Given the description of an element on the screen output the (x, y) to click on. 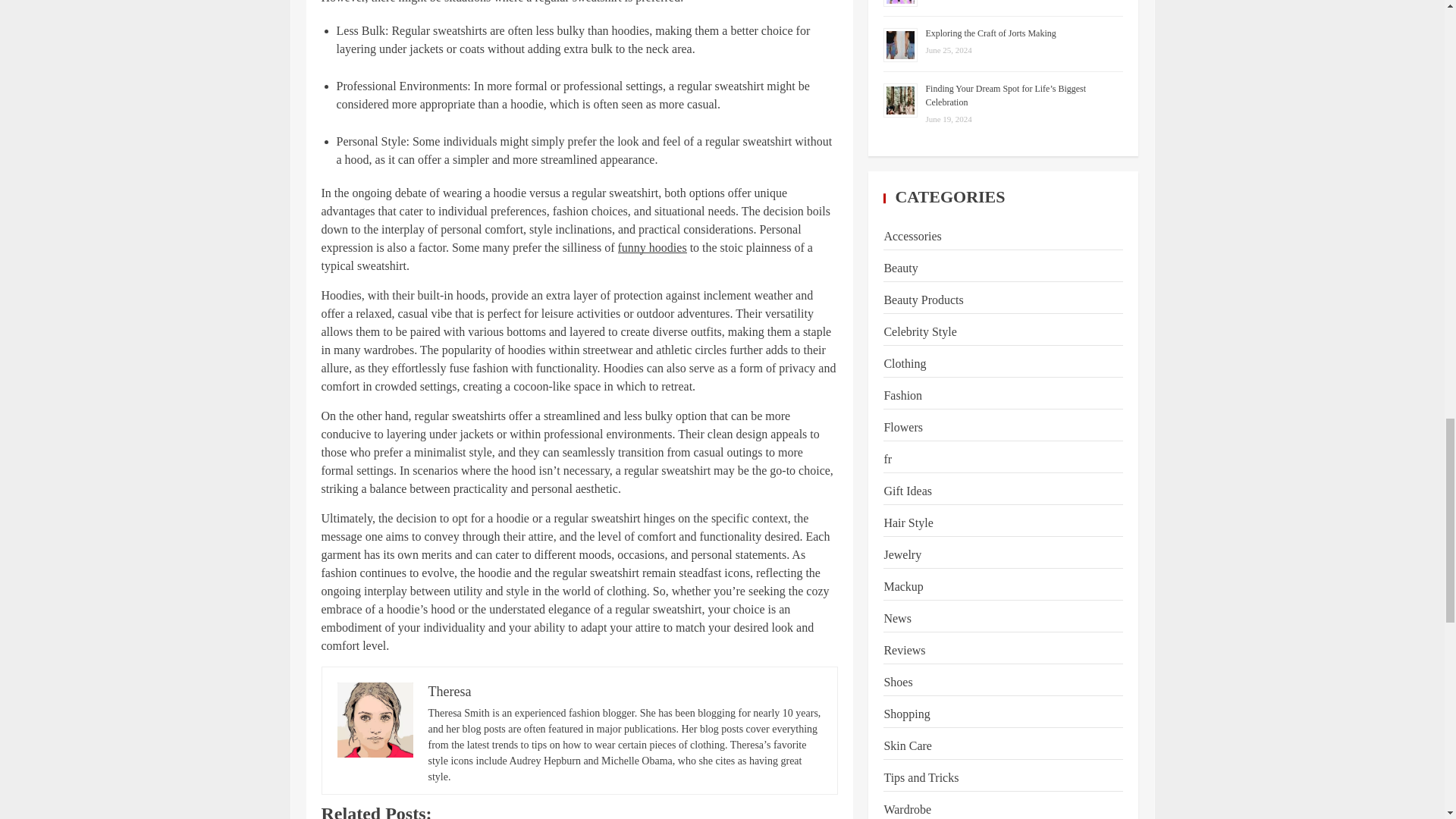
Theresa (449, 691)
Theresa Smith (374, 720)
funny hoodies (652, 246)
